Given the description of an element on the screen output the (x, y) to click on. 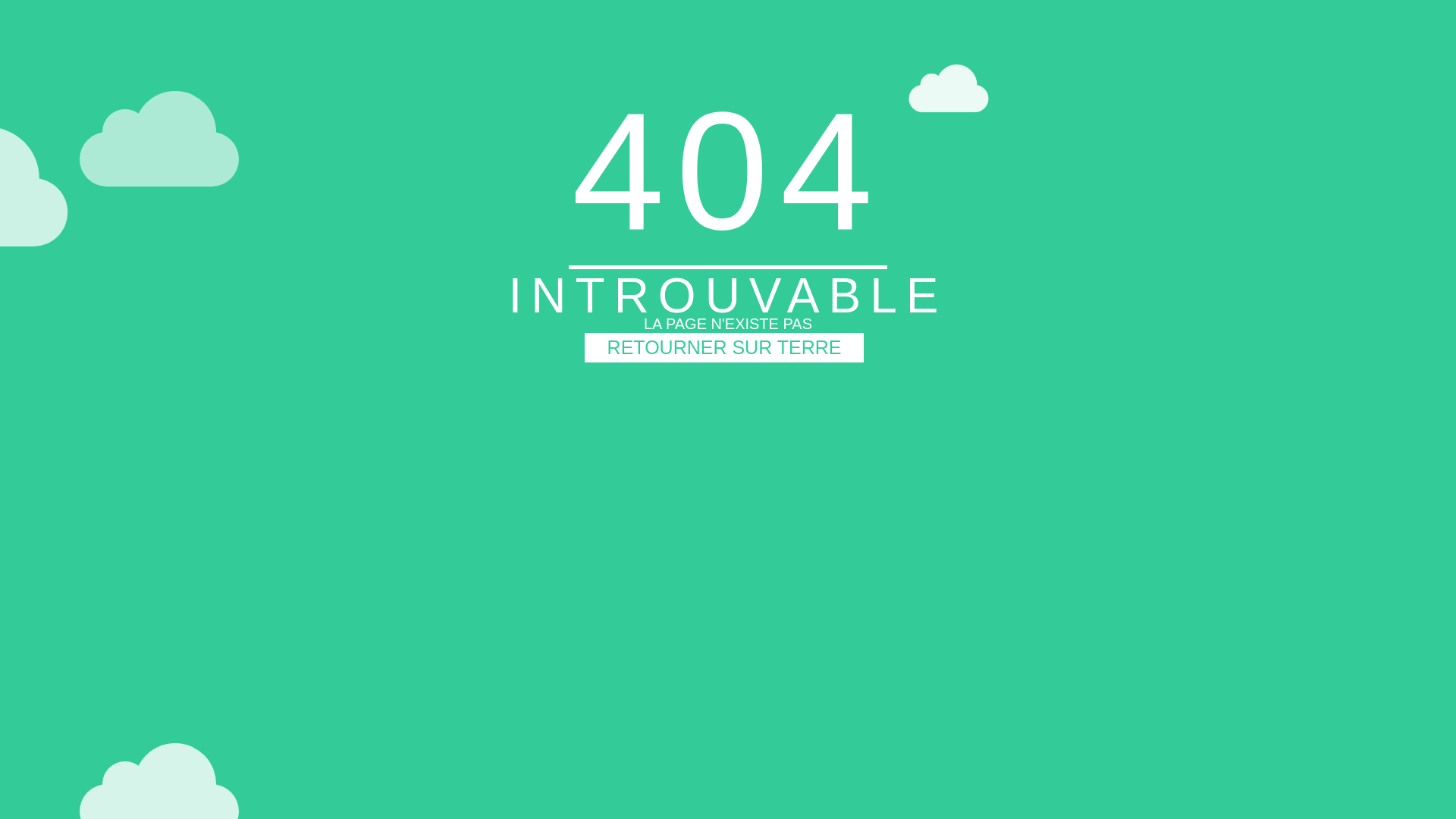
RETOURNER SUR TERRE Element type: text (723, 347)
